Given the description of an element on the screen output the (x, y) to click on. 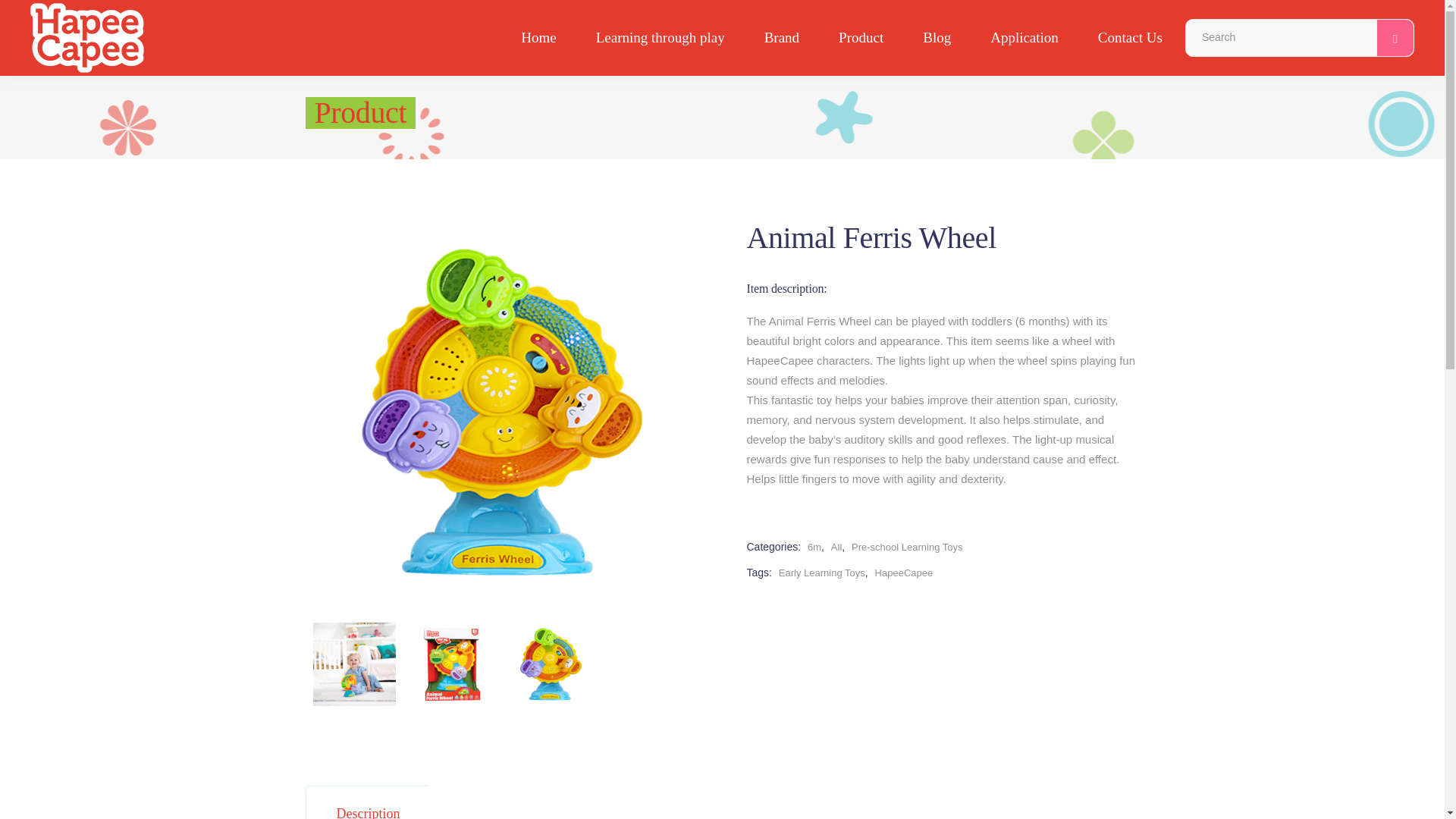
Animal Ferris Wheel (452, 663)
HapeeCapee (901, 572)
AnimalFerrisWheel (354, 663)
Brand (781, 38)
Early Learning Toys (819, 572)
6m (812, 546)
Search for: (1281, 37)
Animal-Ferris-Wheel (550, 663)
Product (860, 38)
All (834, 546)
Learning through play (660, 38)
Home (537, 38)
Application (1024, 38)
Blog (936, 38)
